Given the description of an element on the screen output the (x, y) to click on. 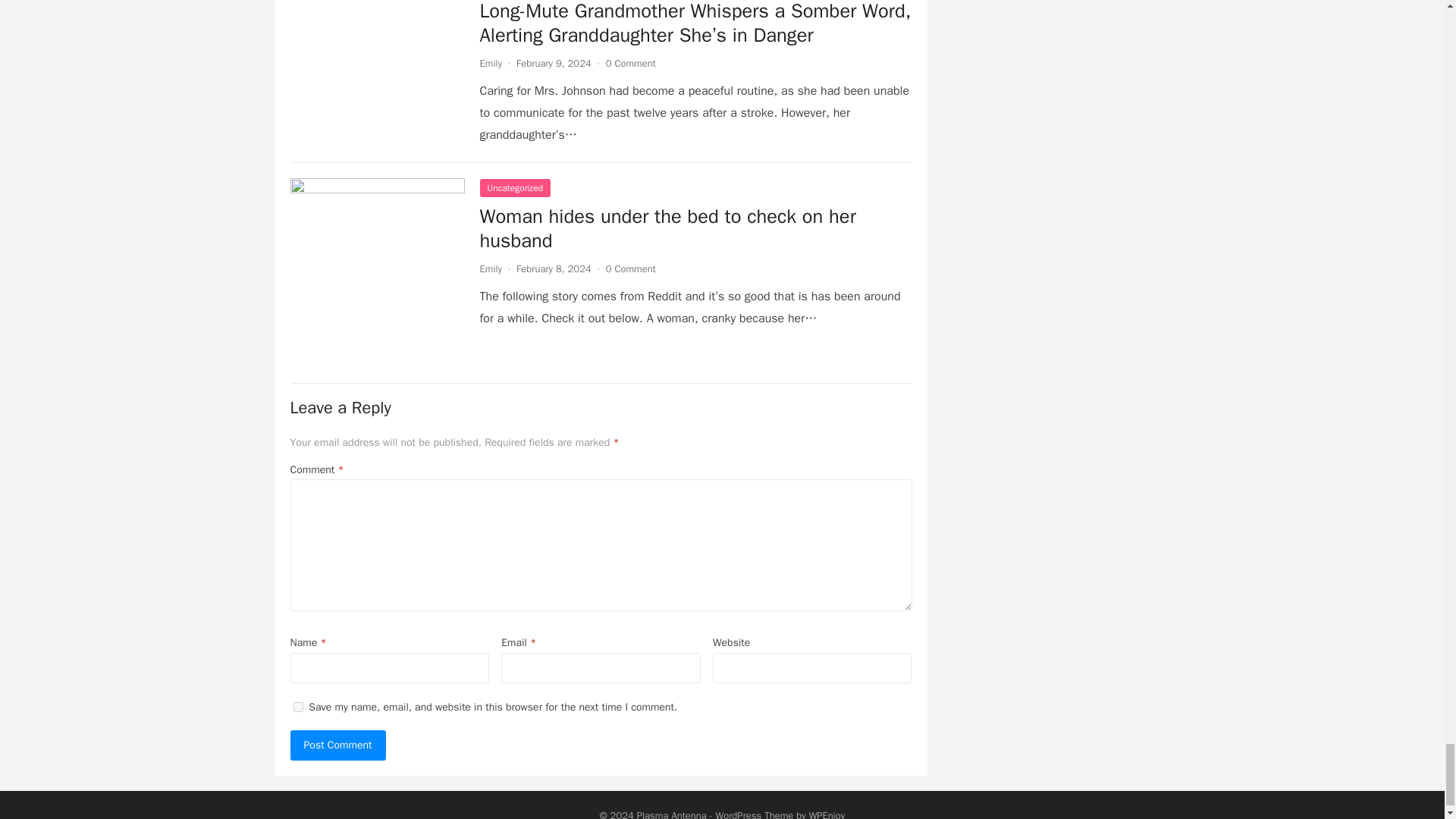
Posts by Emily (490, 62)
Posts by Emily (490, 268)
yes (297, 706)
Post Comment (337, 745)
